Given the description of an element on the screen output the (x, y) to click on. 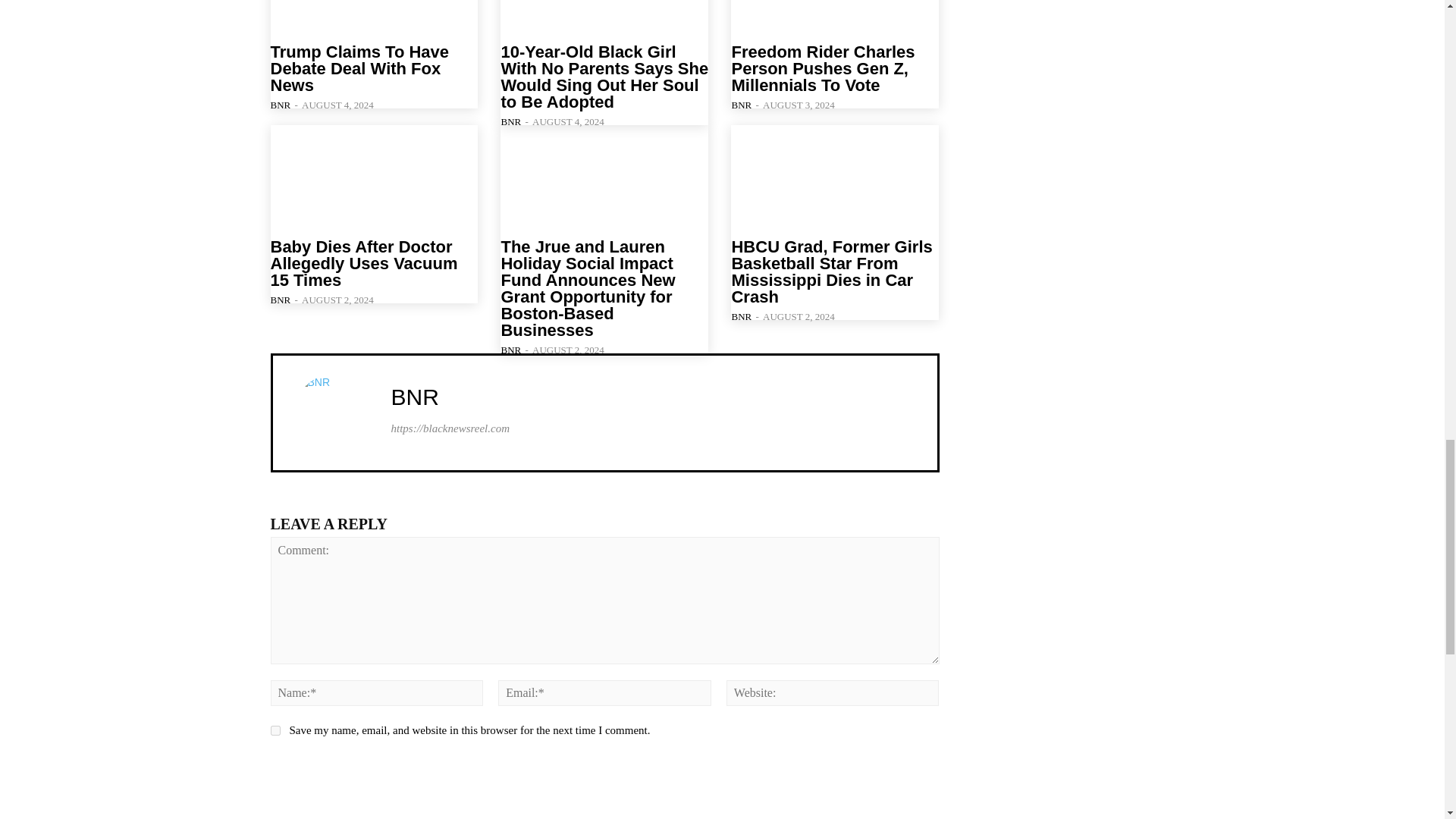
Trump Claims To Have Debate Deal With Fox News (373, 17)
Post Comment (338, 771)
yes (274, 730)
